Given the description of an element on the screen output the (x, y) to click on. 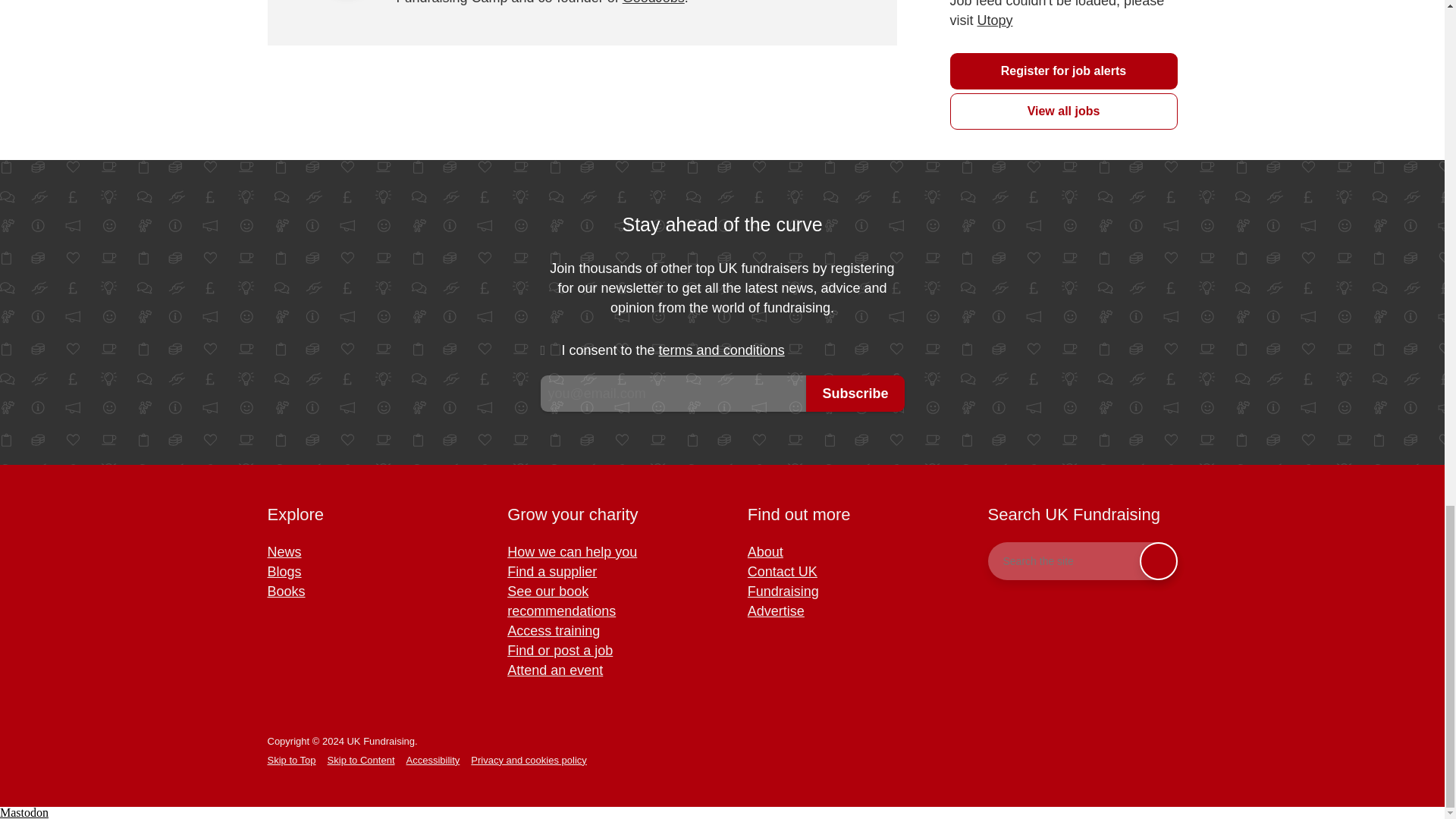
on (551, 351)
Subscribe (855, 393)
GoodJobs (653, 2)
